Given the description of an element on the screen output the (x, y) to click on. 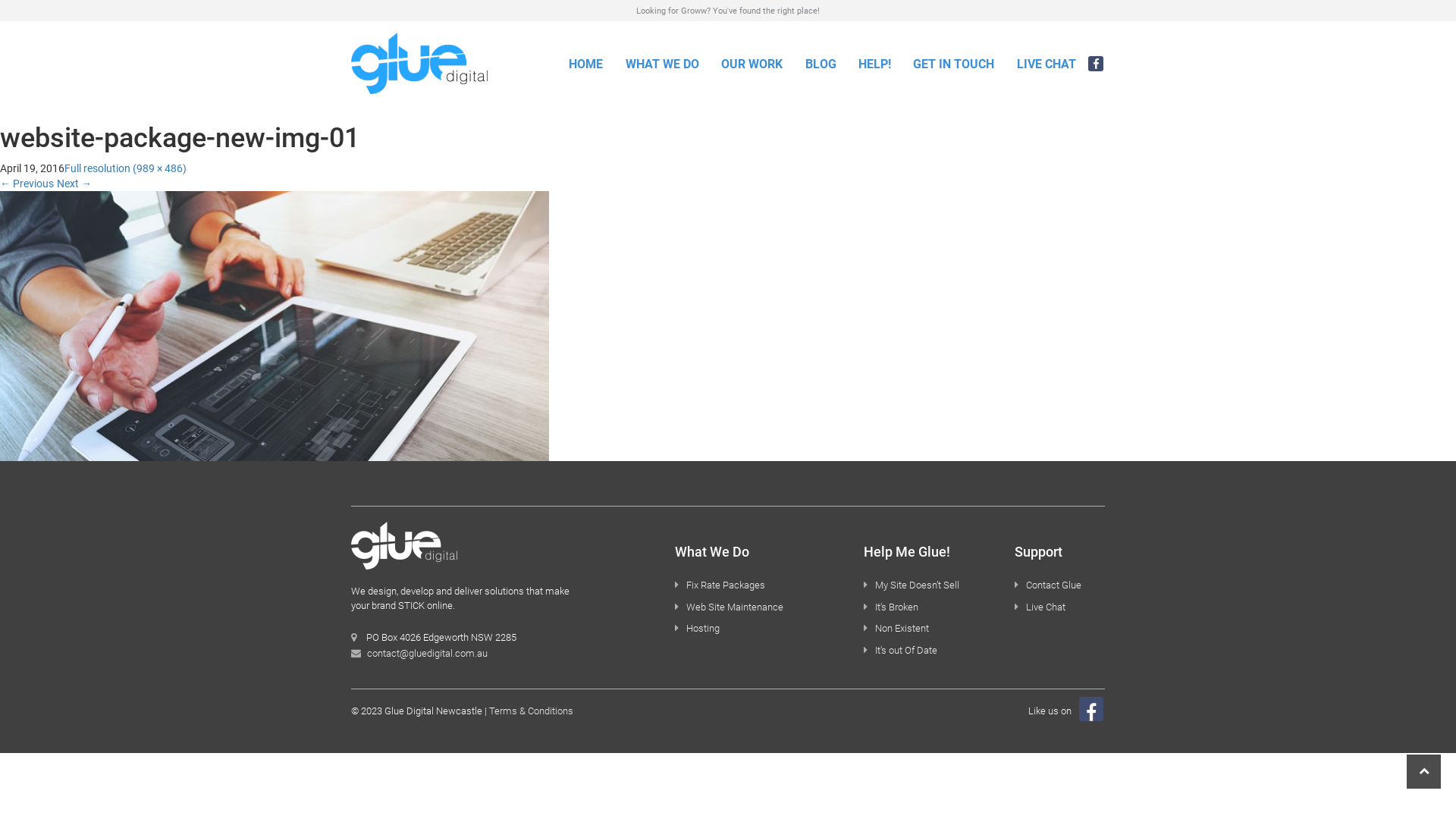
Contact Glue Element type: text (1053, 584)
HELP! Element type: text (874, 64)
GET IN TOUCH Element type: text (953, 64)
LIVE CHAT Element type: text (1046, 64)
contact@gluedigital.com.au Element type: text (427, 652)
Non Existent Element type: text (901, 627)
Terms & Conditions Element type: text (531, 710)
BLOG Element type: text (820, 64)
Web Site Maintenance Element type: text (734, 606)
website-package-new-img-01 Element type: hover (274, 325)
OUR WORK Element type: text (751, 64)
HOME Element type: text (586, 64)
Glue Digital Element type: hover (419, 62)
Hosting Element type: text (702, 627)
WHAT WE DO Element type: text (662, 64)
Live Chat Element type: text (1045, 606)
Web Design Newcastle Element type: hover (274, 326)
Fix Rate Packages Element type: text (725, 584)
Glue Digital Element type: hover (404, 548)
